Given the description of an element on the screen output the (x, y) to click on. 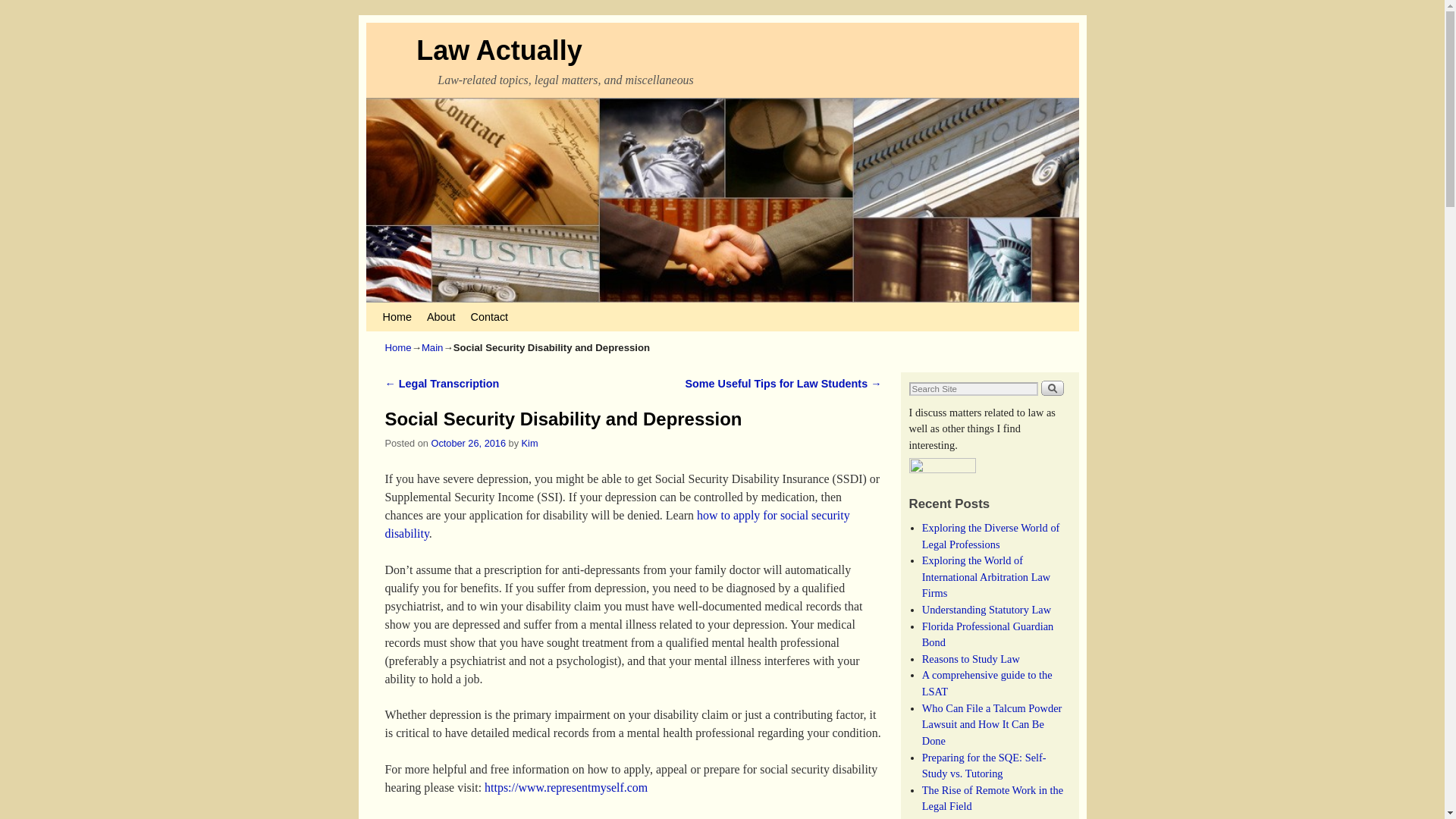
how to apply for social security disability (617, 523)
Main (433, 347)
Exploring the World of International Arbitration Law Firms (985, 576)
The Rise of Remote Work in the Legal Field (991, 798)
Contact (489, 316)
Skip to primary content (408, 309)
Skip to secondary content (412, 309)
Law Actually (499, 50)
Reasons to Study Law (970, 658)
Kim (529, 442)
Who Can File a Talcum Powder Lawsuit and How It Can Be Done (991, 723)
6:07 am (467, 442)
Home (398, 347)
Understanding Statutory Law (986, 609)
A comprehensive guide to the LSAT (986, 683)
